Given the description of an element on the screen output the (x, y) to click on. 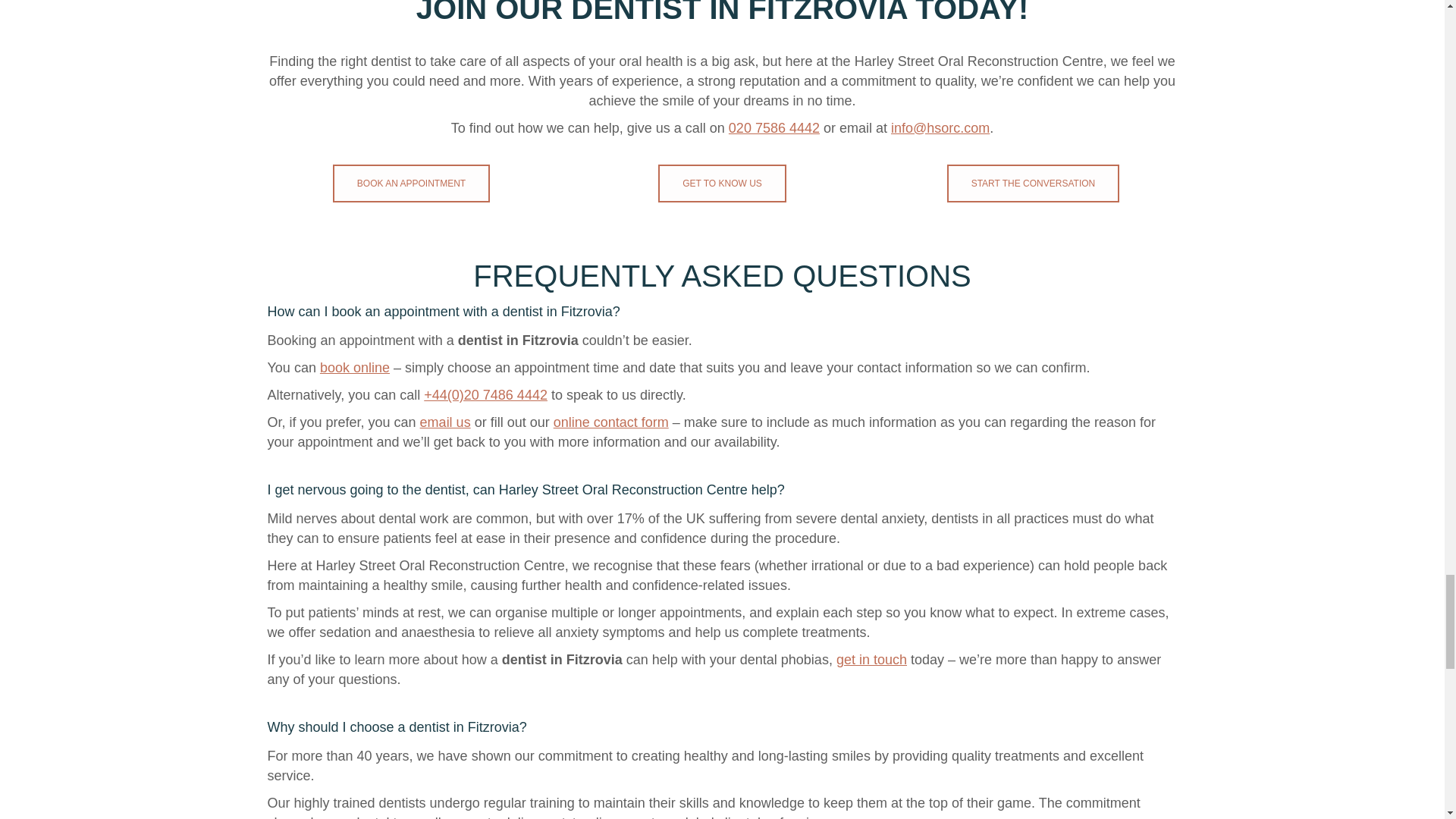
Contact (1033, 182)
Contact (411, 182)
Contact (722, 182)
